Given the description of an element on the screen output the (x, y) to click on. 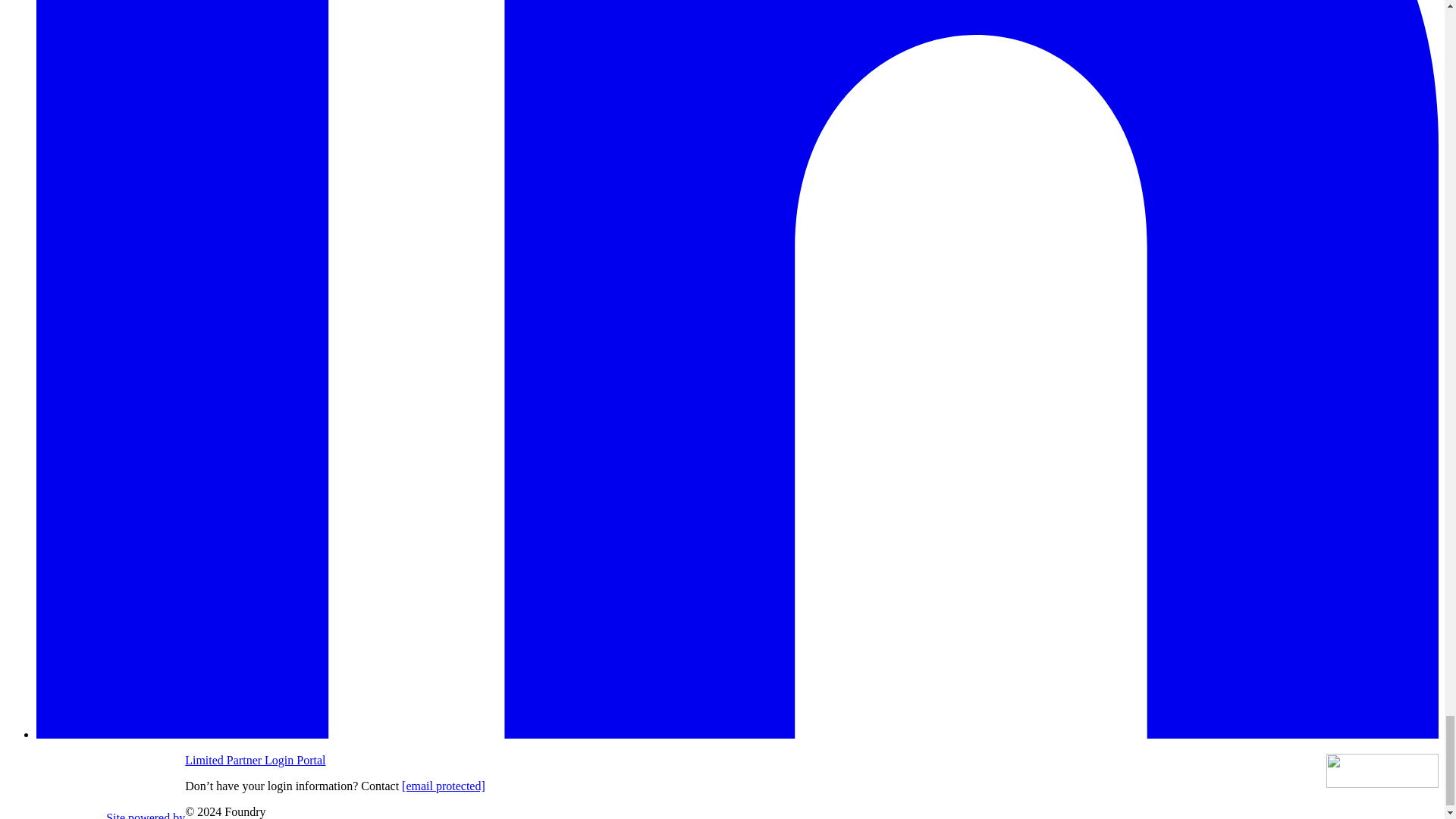
Limited Partner Login Portal (254, 759)
